Given the description of an element on the screen output the (x, y) to click on. 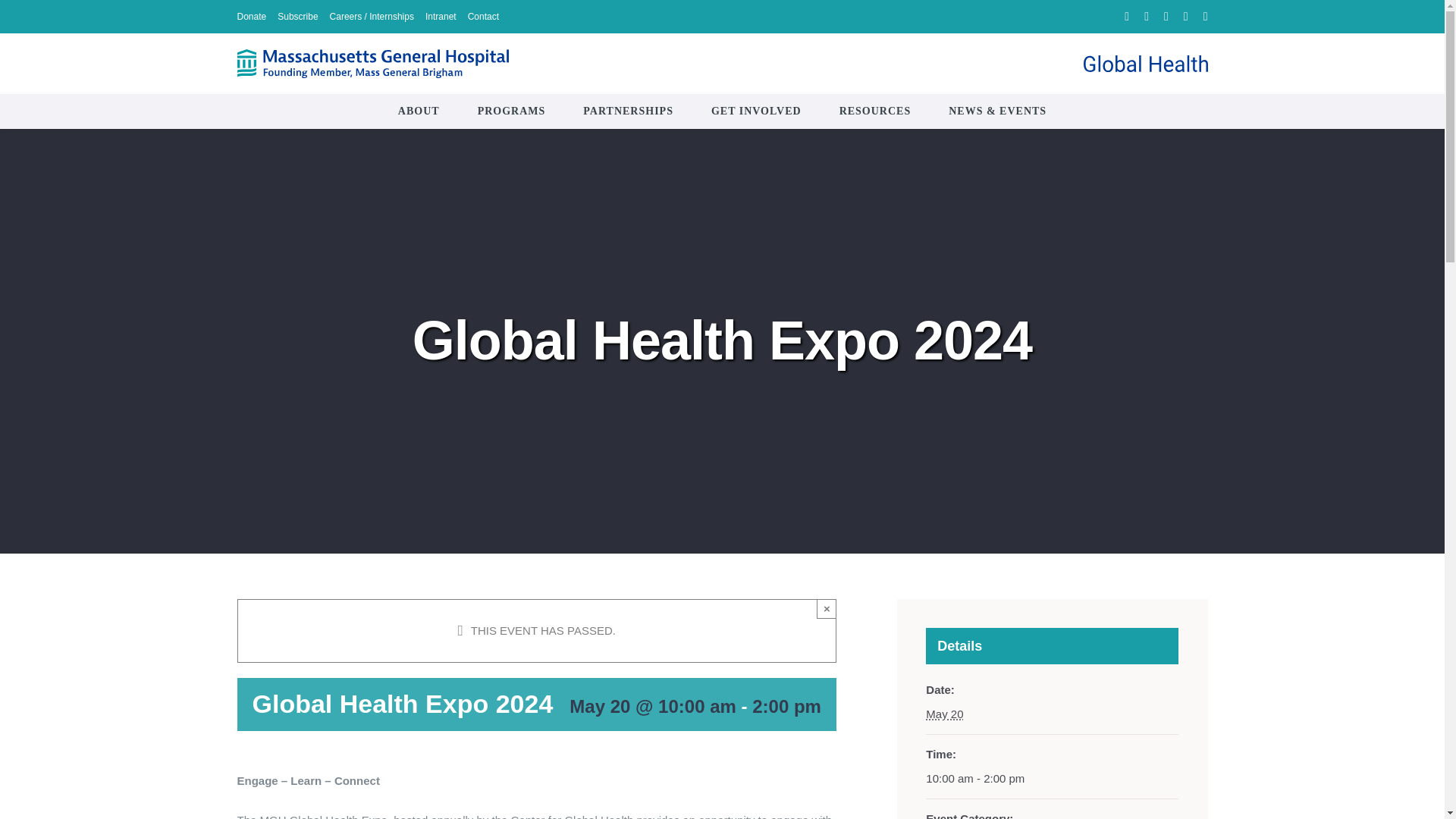
2024-05-20 (944, 713)
Subscribe (297, 17)
Intranet (441, 17)
Contact (483, 17)
mgh-logo-rgb-358 (371, 63)
2024-05-20 (1051, 778)
